Given the description of an element on the screen output the (x, y) to click on. 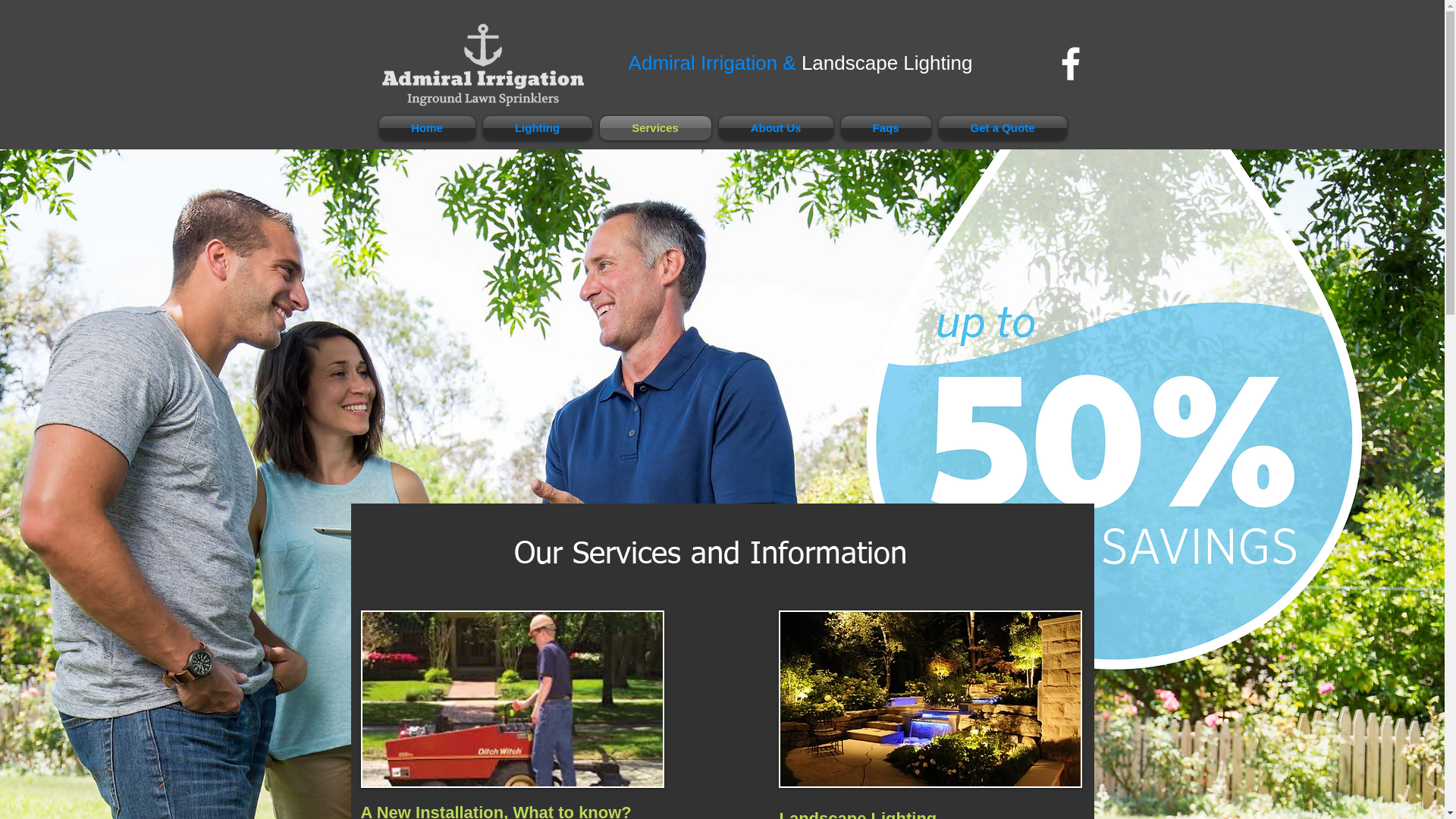
Faqs Element type: text (886, 128)
About Us Element type: text (775, 128)
Home Element type: text (429, 128)
Get a Quote Element type: text (1000, 128)
Services Element type: text (655, 128)
Lighting Element type: text (537, 128)
